Given the description of an element on the screen output the (x, y) to click on. 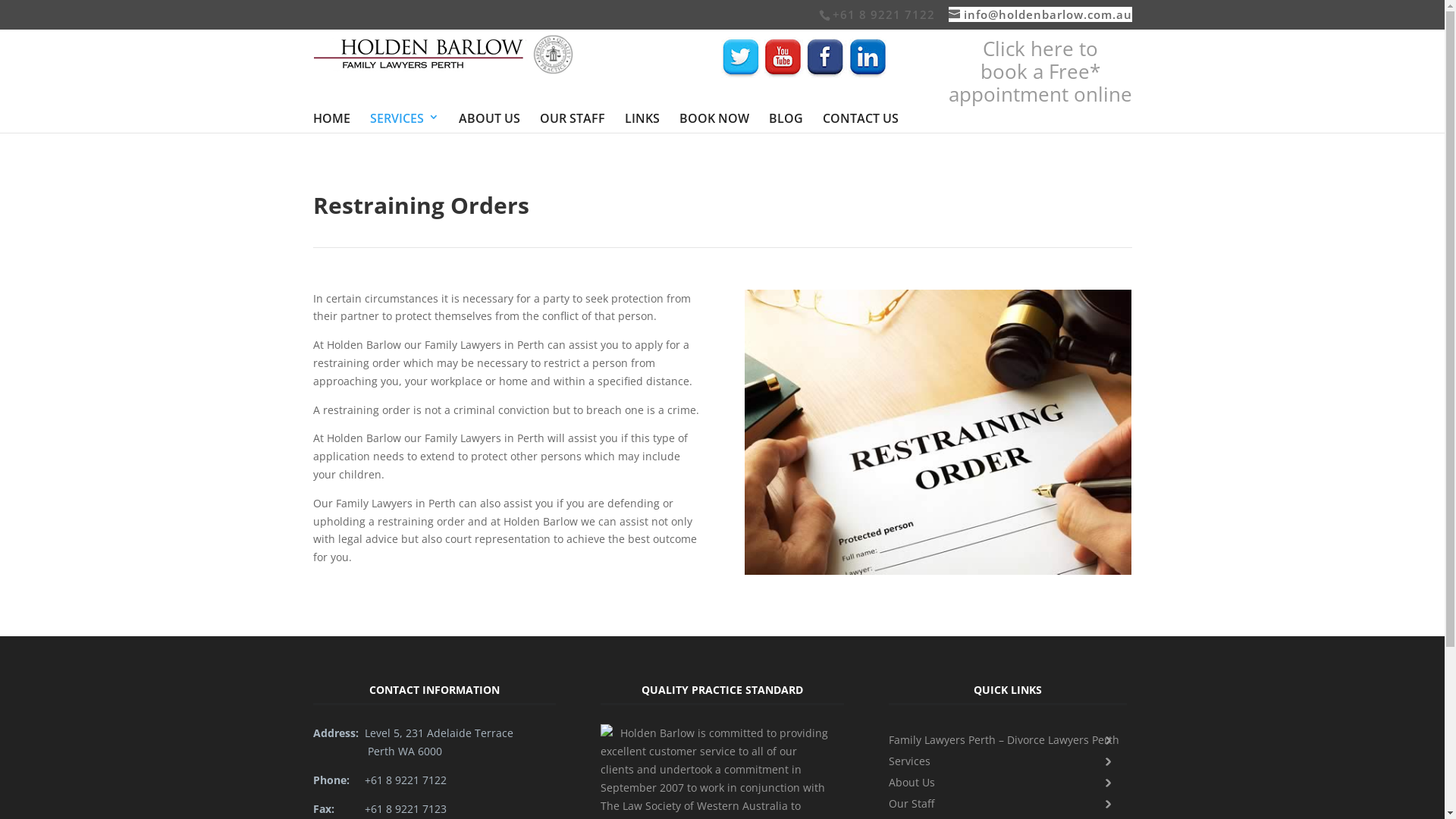
LINKS Element type: text (641, 117)
CONTACT US Element type: text (859, 117)
Services Element type: text (1003, 761)
BLOG Element type: text (785, 117)
info@holdenbarlow.com.au Element type: text (1039, 13)
ABOUT US Element type: text (488, 117)
SERVICES Element type: text (404, 117)
BOOK NOW Element type: text (714, 117)
OUR STAFF Element type: text (572, 117)
About Us Element type: text (1003, 782)
HOME Element type: text (330, 117)
Our Staff Element type: text (1003, 803)
